Given the description of an element on the screen output the (x, y) to click on. 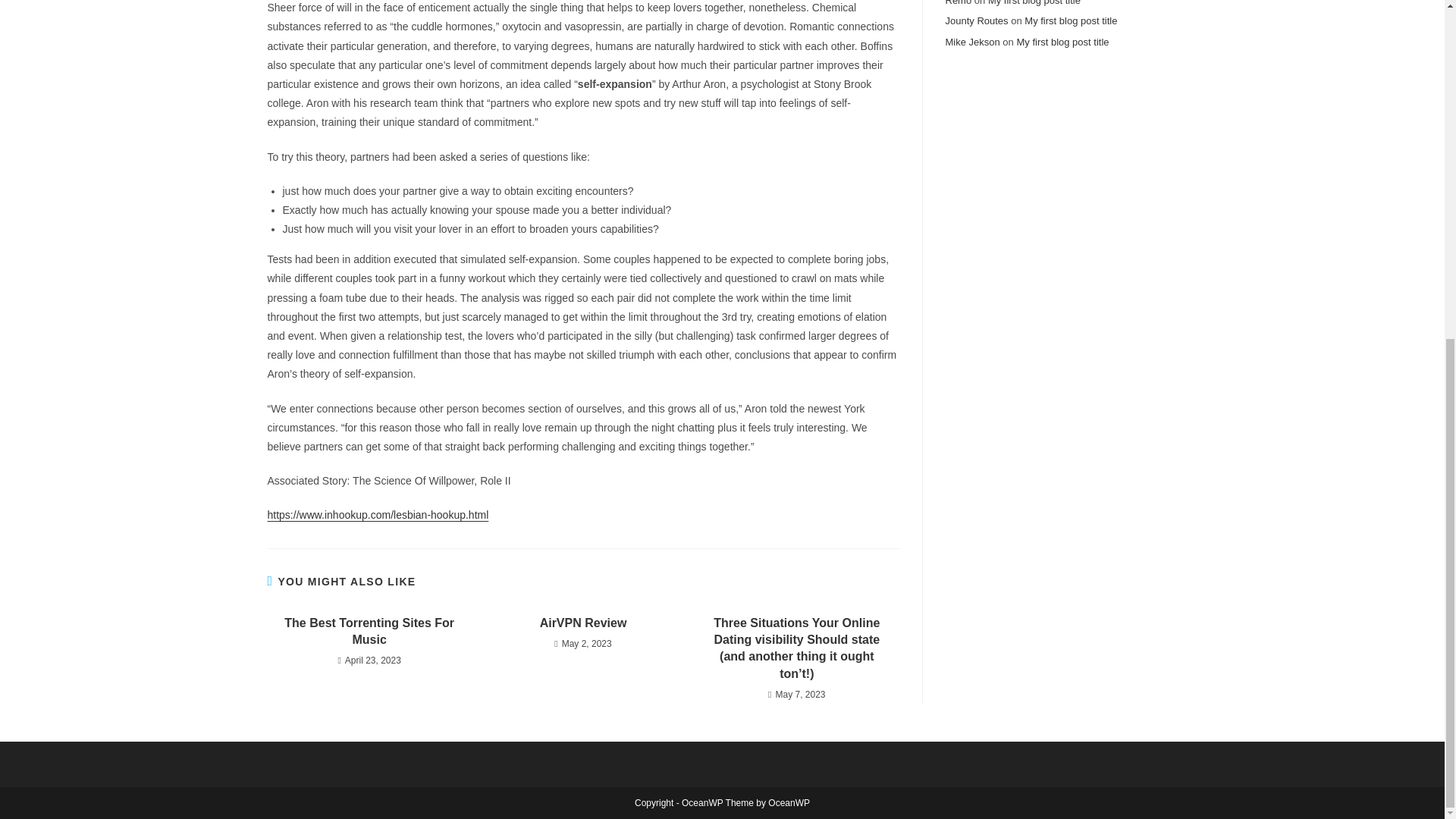
Remo (957, 2)
My first blog post title (1062, 41)
My first blog post title (1070, 20)
My first blog post title (1034, 2)
Jounty Routes (975, 20)
The Best Torrenting Sites For Music (368, 632)
AirVPN Review (582, 623)
Mike Jekson (971, 41)
